Given the description of an element on the screen output the (x, y) to click on. 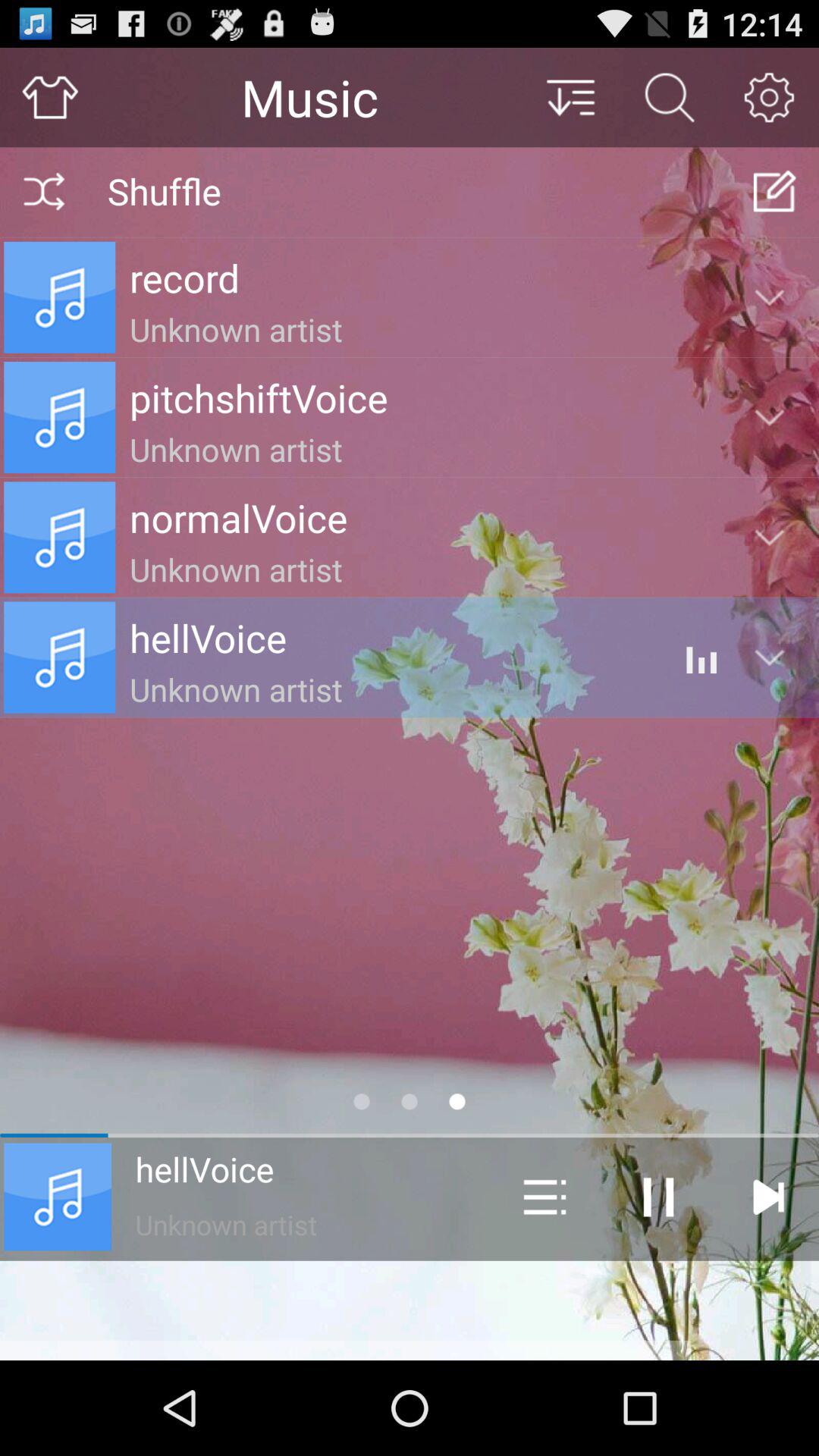
choose the item to the right of the hellvoice icon (544, 1197)
